Given the description of an element on the screen output the (x, y) to click on. 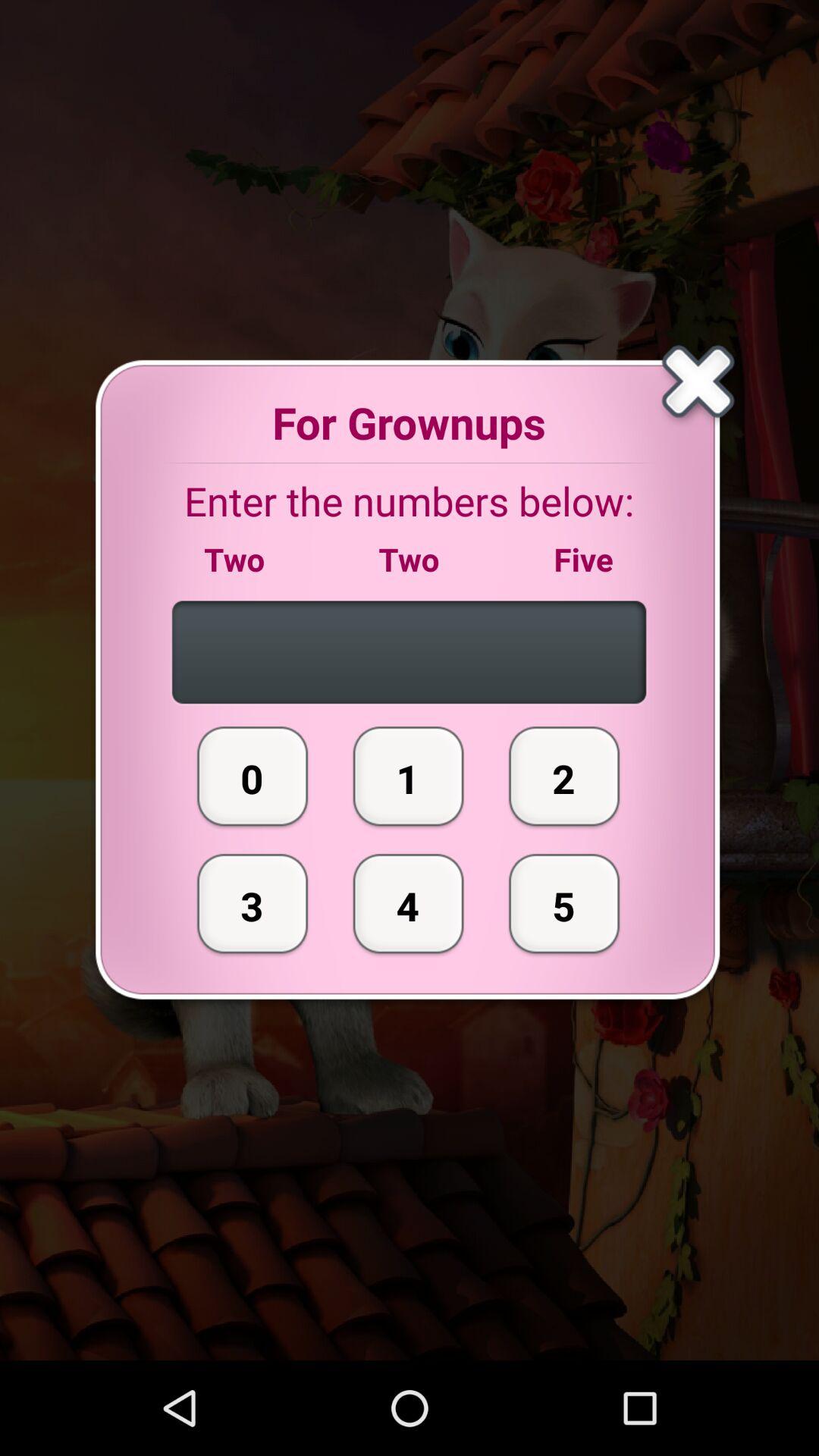
launch icon next to the 2 (408, 903)
